Given the description of an element on the screen output the (x, y) to click on. 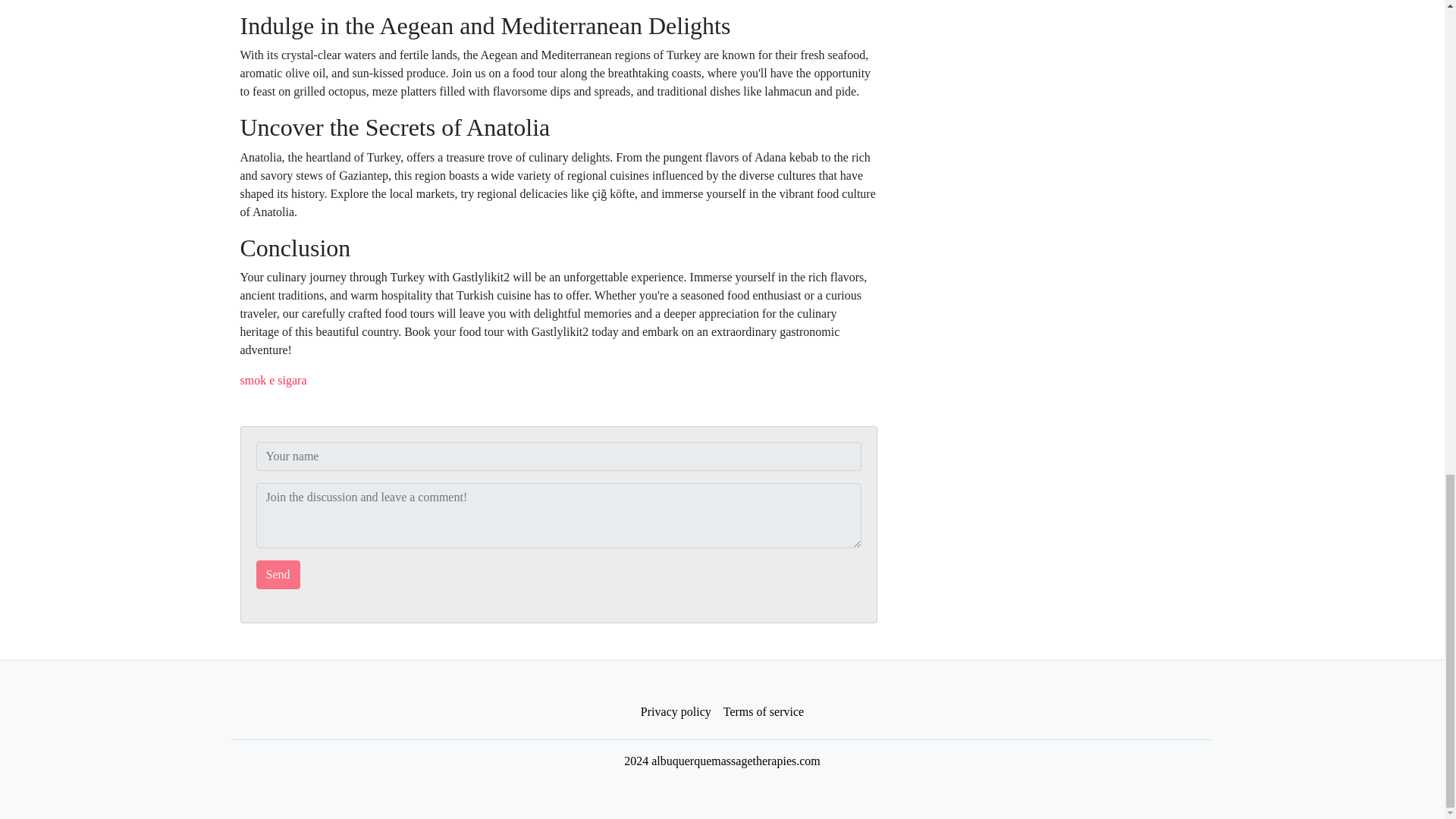
smok e sigara (272, 379)
Terms of service (763, 711)
Send (277, 574)
Send (277, 574)
Privacy policy (675, 711)
